Given the description of an element on the screen output the (x, y) to click on. 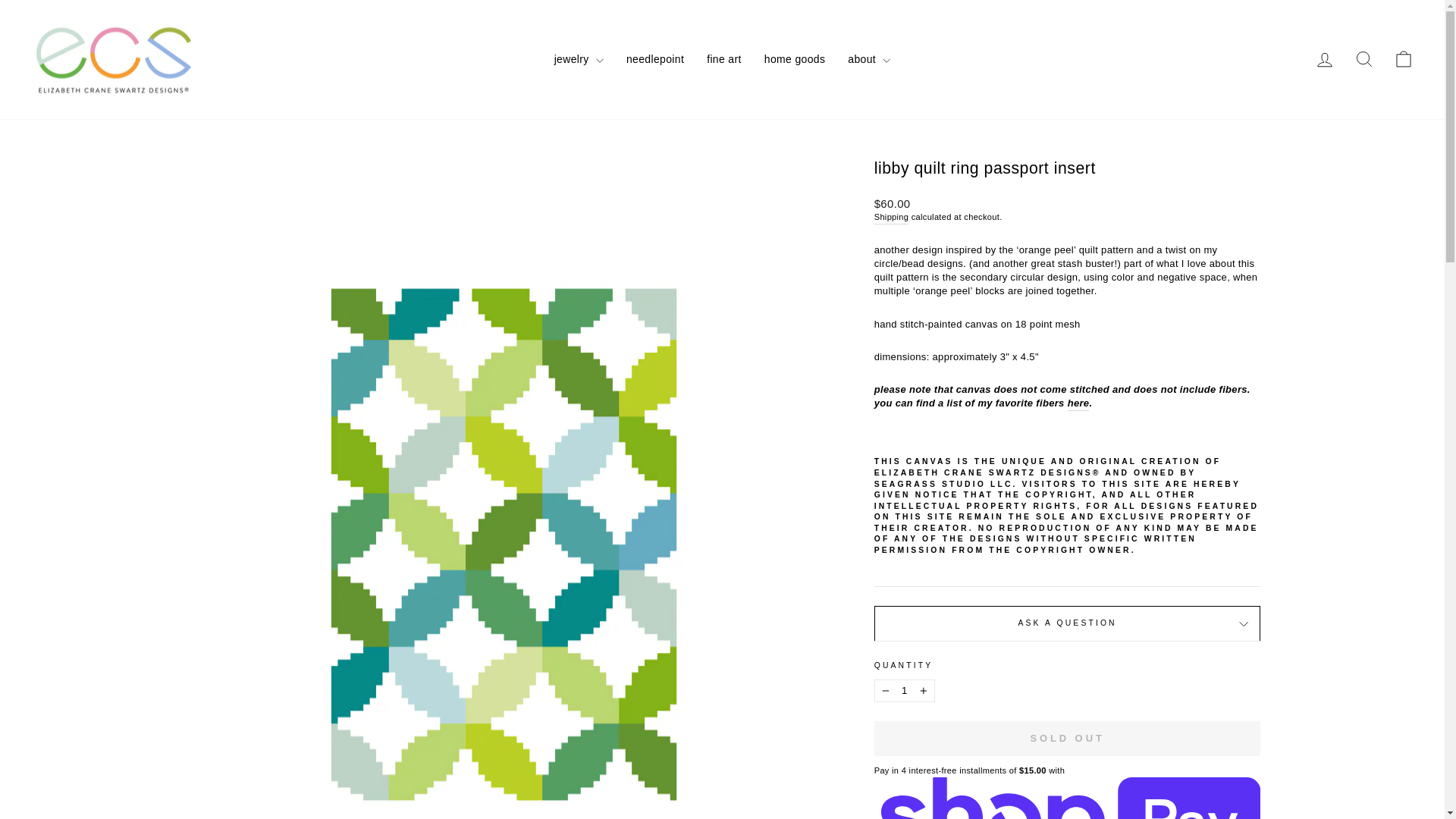
home goods (1363, 59)
icon-bag-minimal (794, 59)
account (1403, 58)
1 (1324, 59)
needlepoint (904, 690)
fine art (654, 59)
icon-search (723, 59)
